Given the description of an element on the screen output the (x, y) to click on. 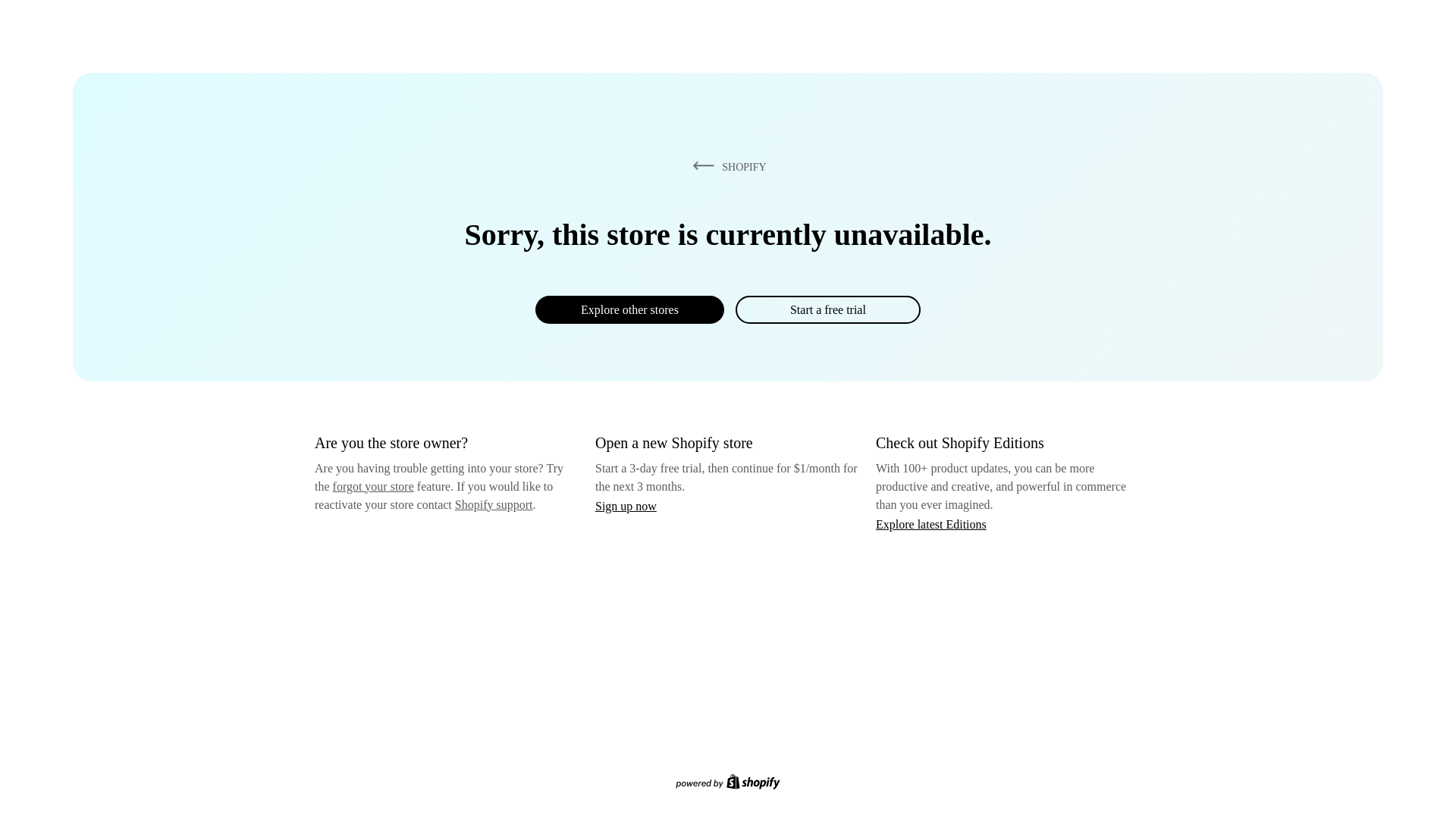
Shopify support (493, 504)
Start a free trial (827, 309)
Sign up now (625, 505)
SHOPIFY (726, 166)
Explore other stores (629, 309)
Explore latest Editions (931, 523)
forgot your store (373, 486)
